Given the description of an element on the screen output the (x, y) to click on. 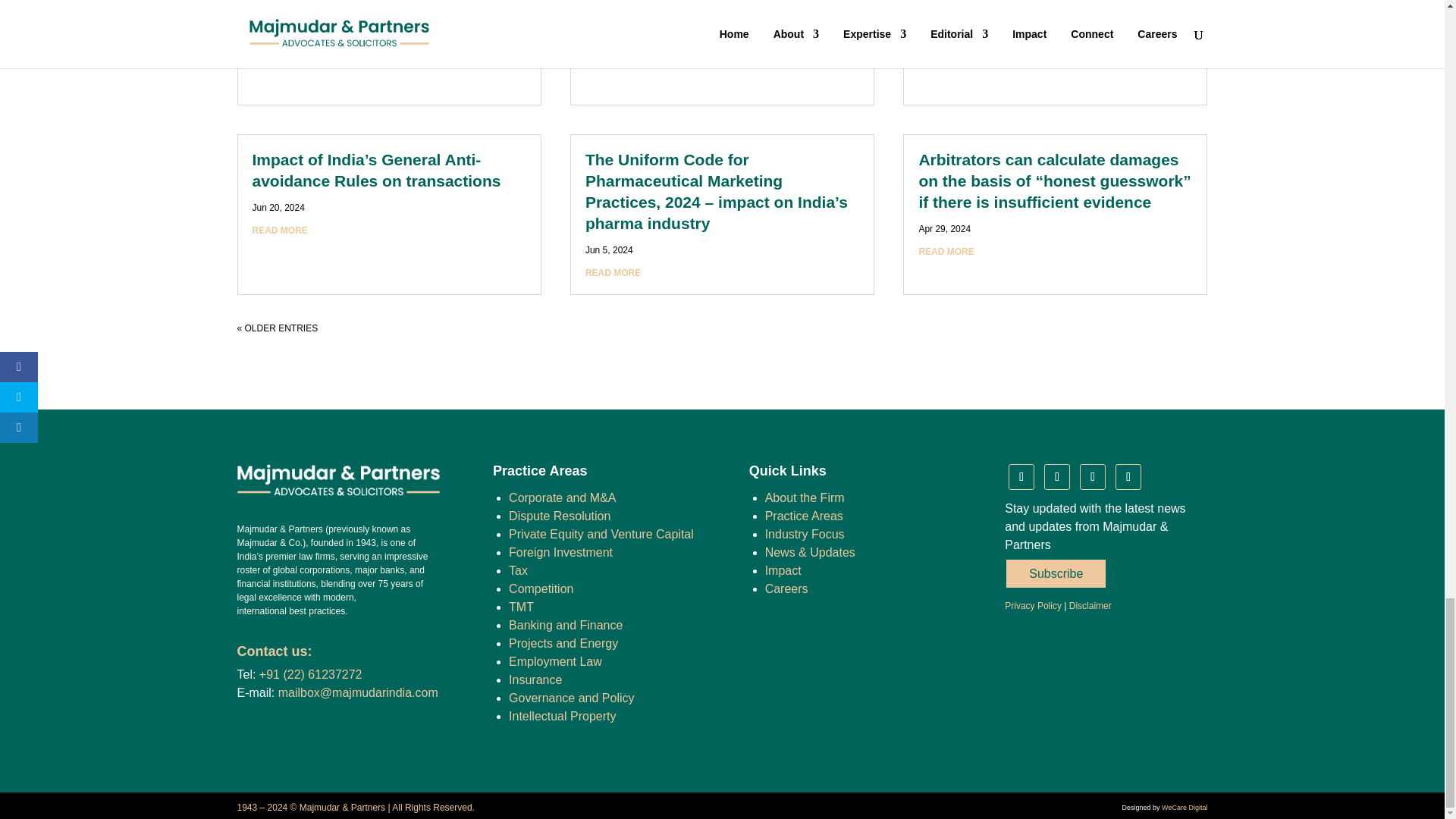
Follow on X (1128, 476)
READ MORE (612, 40)
READ MORE (279, 40)
Follow on Instagram (1092, 476)
Follow on LinkedIn (1021, 476)
READ MORE (279, 230)
Asset 1 (337, 479)
Follow on Facebook (1056, 476)
